Given the description of an element on the screen output the (x, y) to click on. 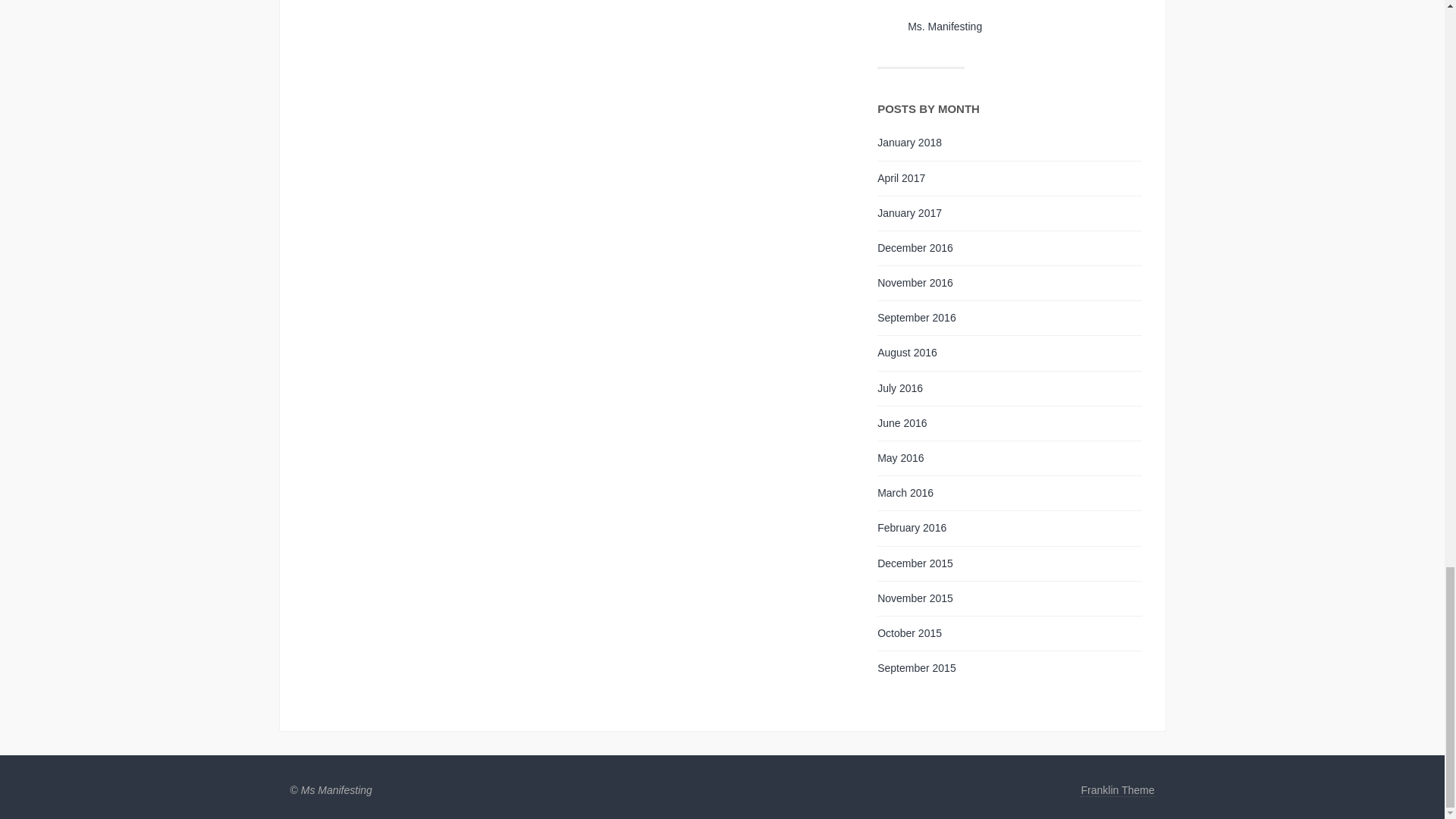
May 2016 (900, 458)
March 2016 (905, 492)
July 2016 (900, 387)
Franklin WordPress Theme (1117, 789)
January 2018 (909, 142)
June 2016 (901, 422)
September 2016 (916, 317)
Ms. Manifesting (944, 26)
January 2017 (909, 213)
August 2016 (907, 352)
